Given the description of an element on the screen output the (x, y) to click on. 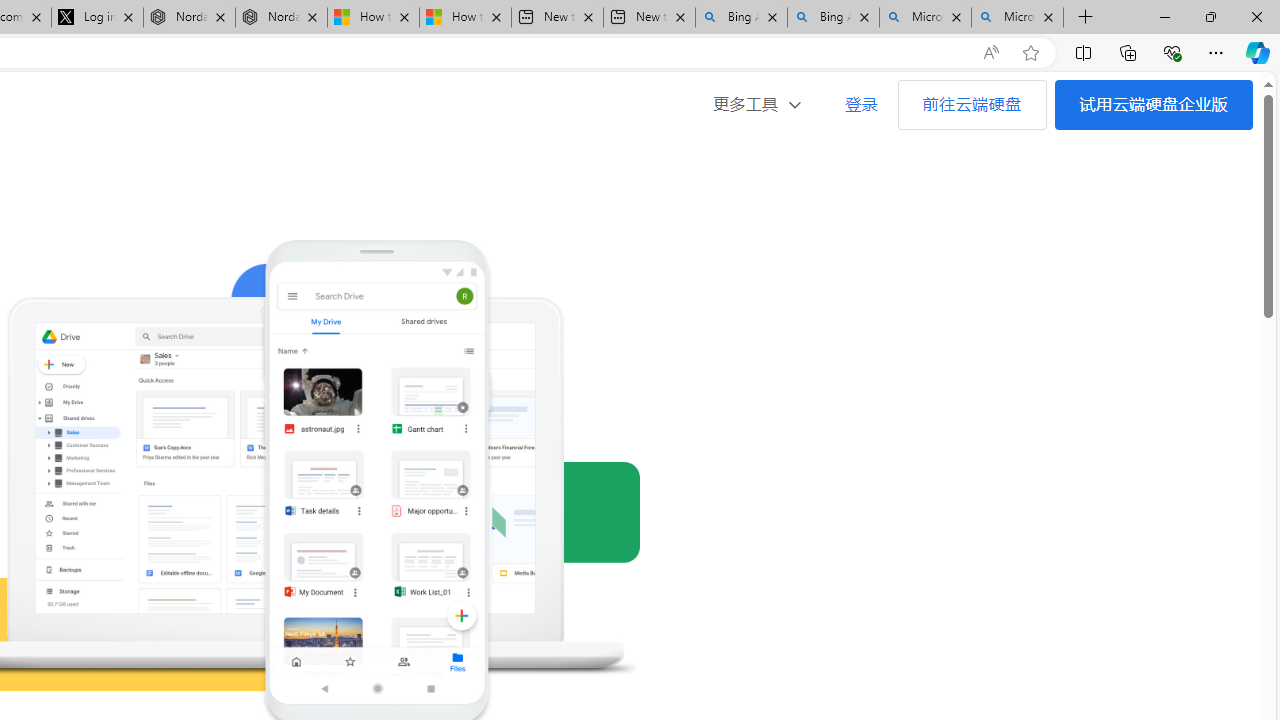
Bing AI - Search (833, 17)
Microsoft Bing Timeline - Search (1017, 17)
